Given the description of an element on the screen output the (x, y) to click on. 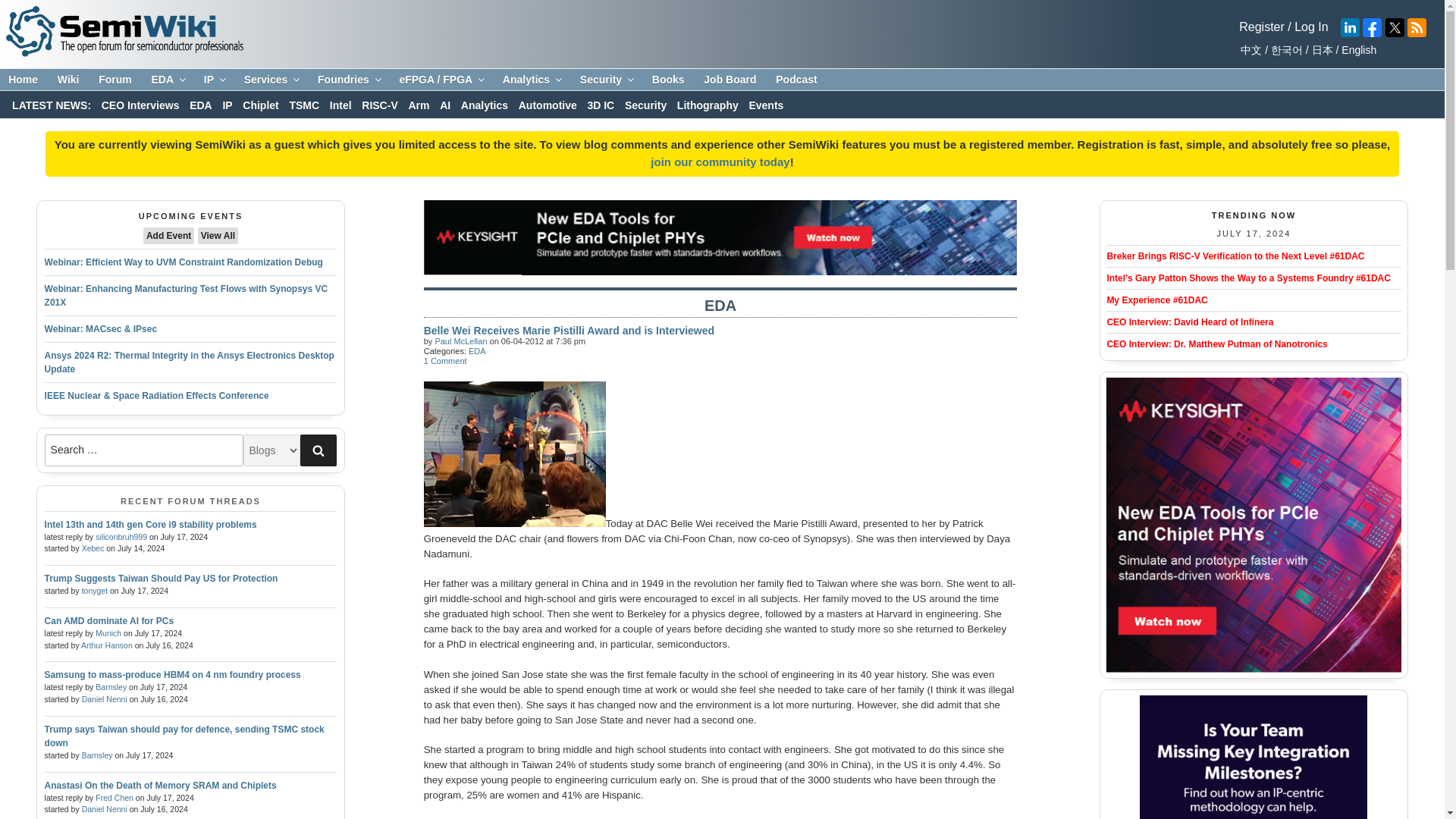
Home (23, 79)
Login (1261, 26)
IP (213, 79)
EDA (167, 79)
Korean (1284, 50)
Japanese (1319, 50)
English (1356, 50)
Register (1261, 26)
Login (1310, 26)
Webinar: Efficient Way to UVM Constraint Randomization Debug (184, 262)
Wiki (68, 79)
Forum (114, 79)
Login (719, 161)
Log In (1310, 26)
